Given the description of an element on the screen output the (x, y) to click on. 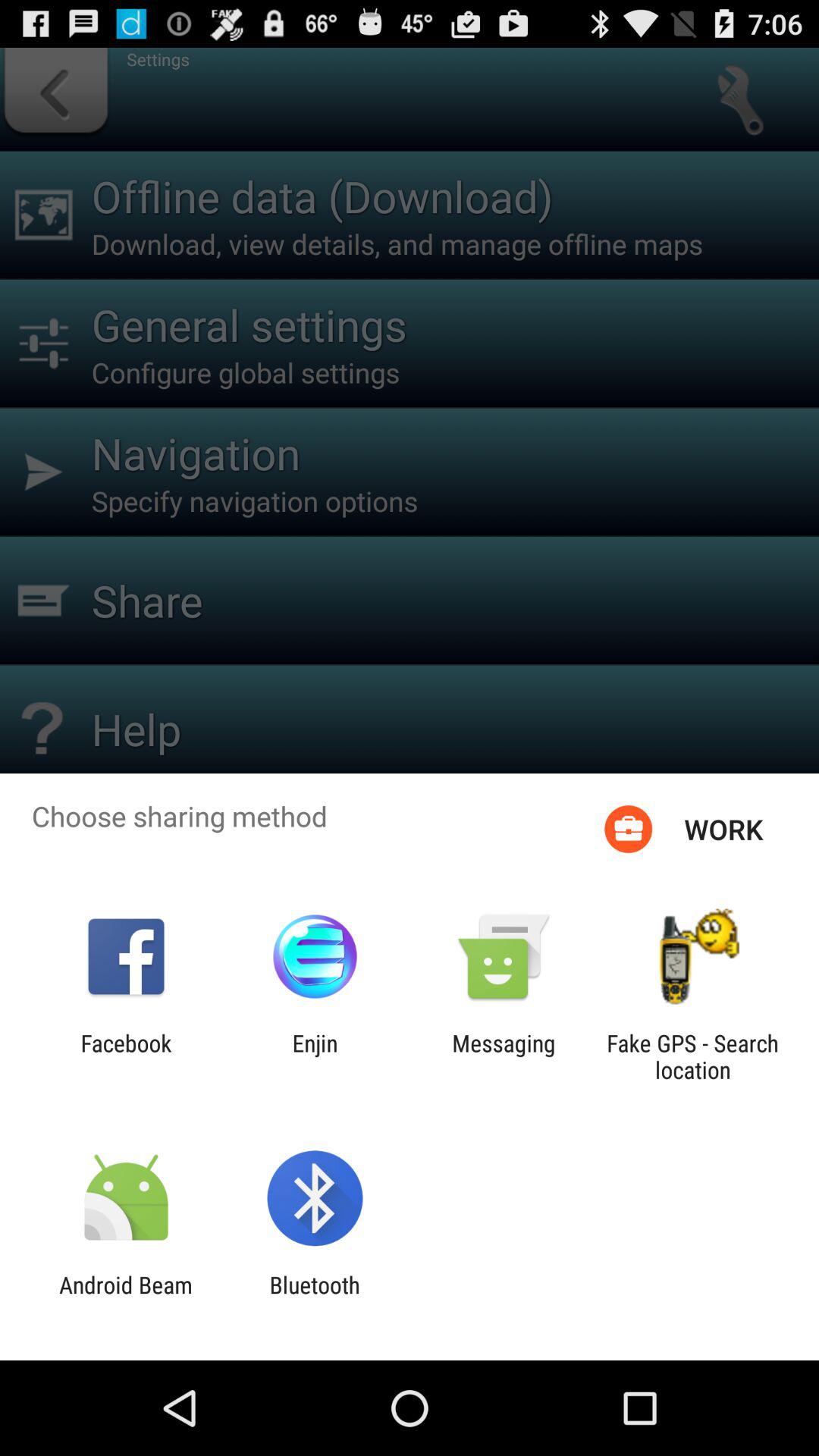
jump to android beam app (125, 1298)
